Given the description of an element on the screen output the (x, y) to click on. 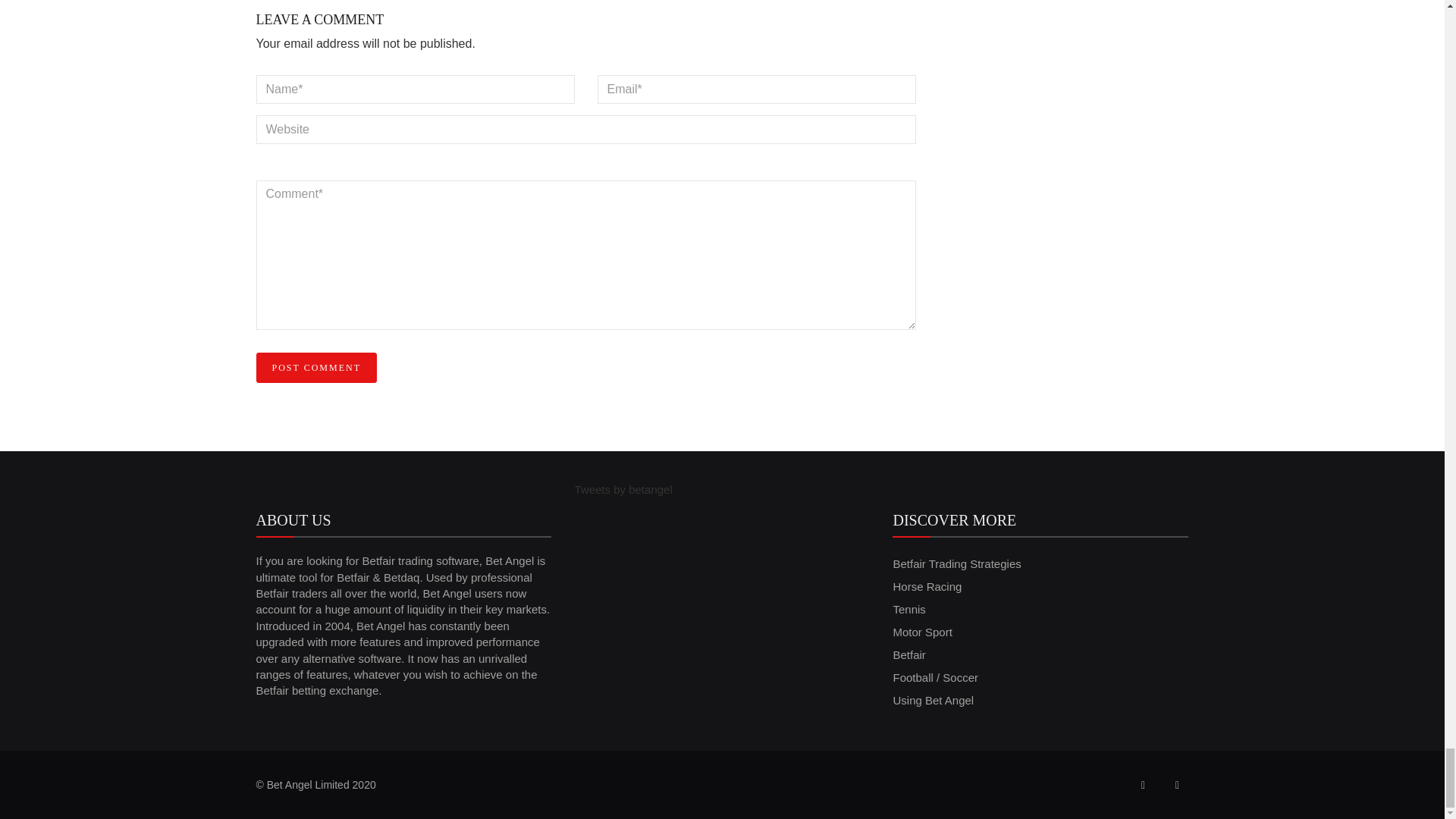
Post Comment (316, 367)
Post Comment (316, 367)
